Given the description of an element on the screen output the (x, y) to click on. 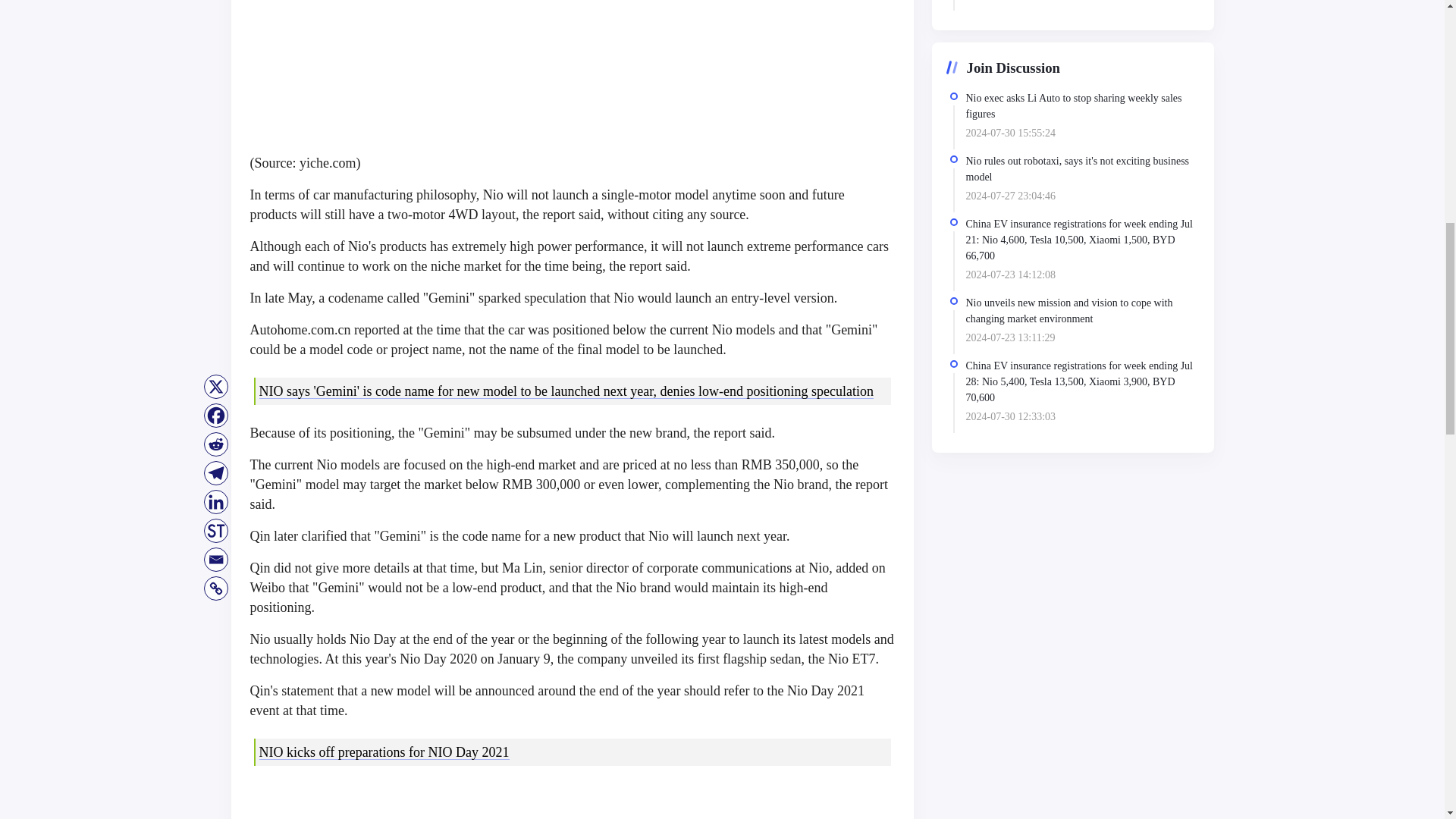
NIO kicks off preparations for NIO Day 2021 (384, 752)
